Given the description of an element on the screen output the (x, y) to click on. 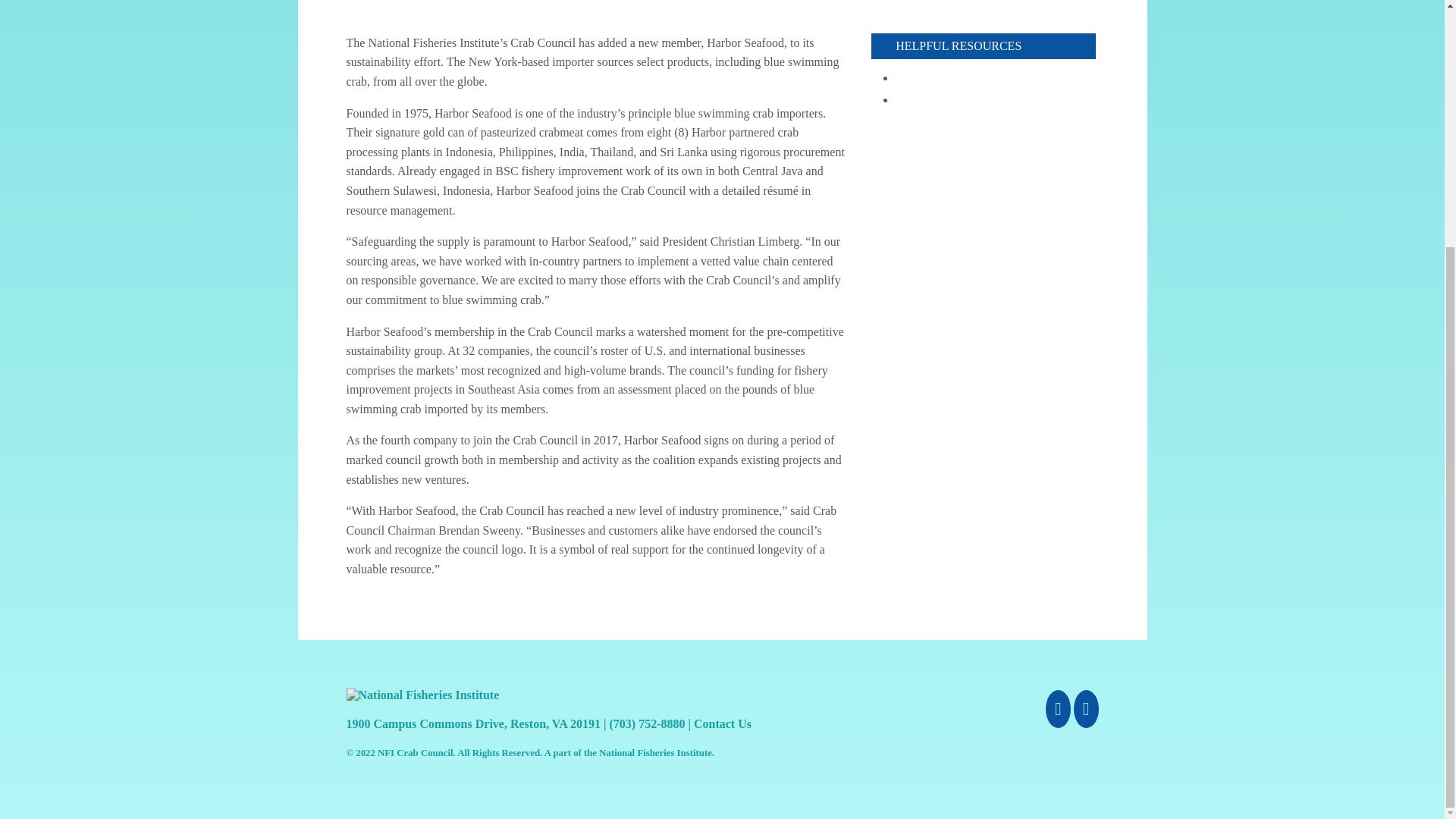
1900 Campus Commons Drive, Reston, VA 20191 (472, 723)
Contact Us (722, 723)
National Fisheries Institute. (656, 752)
